Given the description of an element on the screen output the (x, y) to click on. 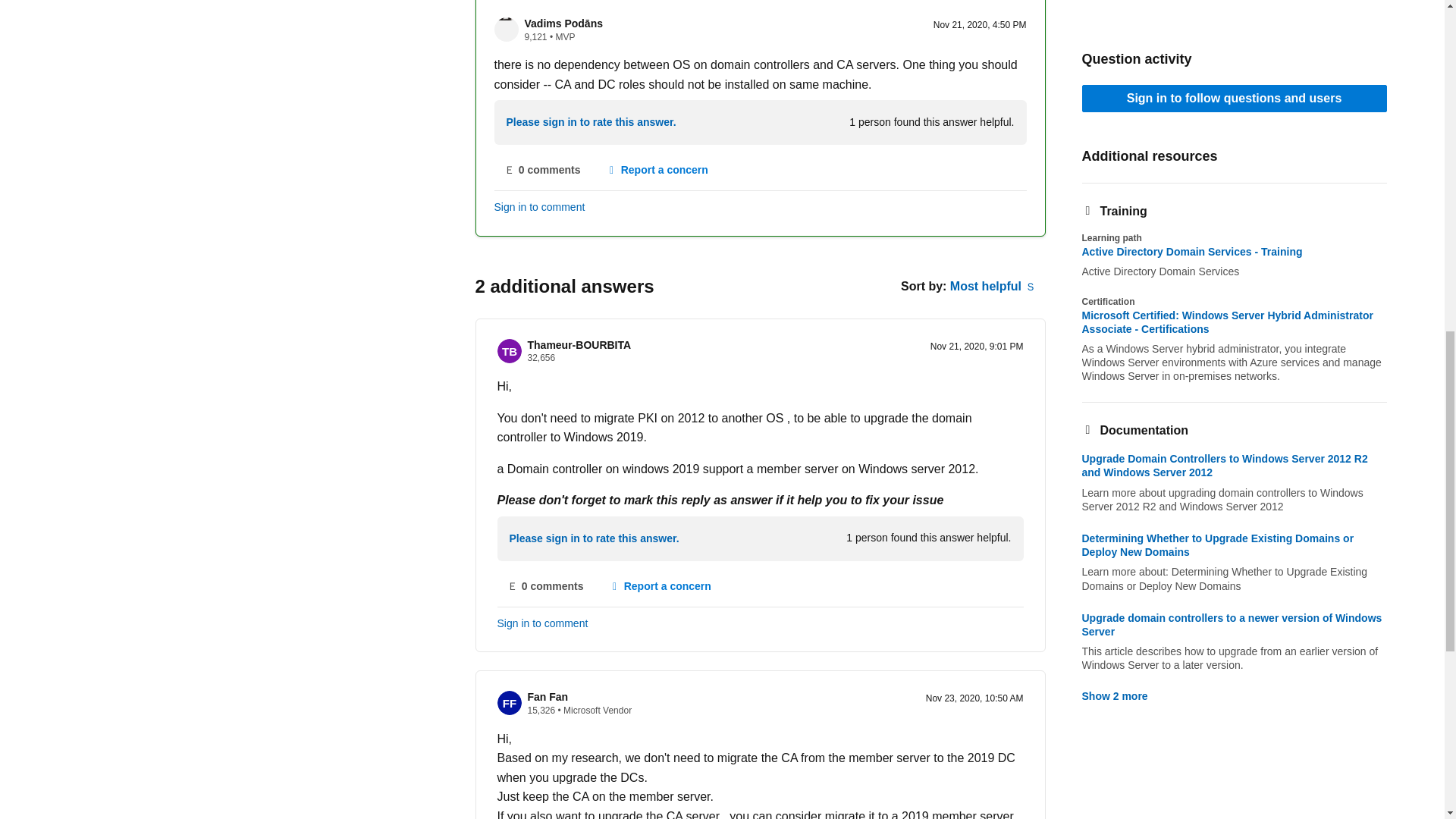
Reputation points (541, 357)
Reputation points (535, 36)
Report a concern (656, 170)
No comments (543, 170)
